Given the description of an element on the screen output the (x, y) to click on. 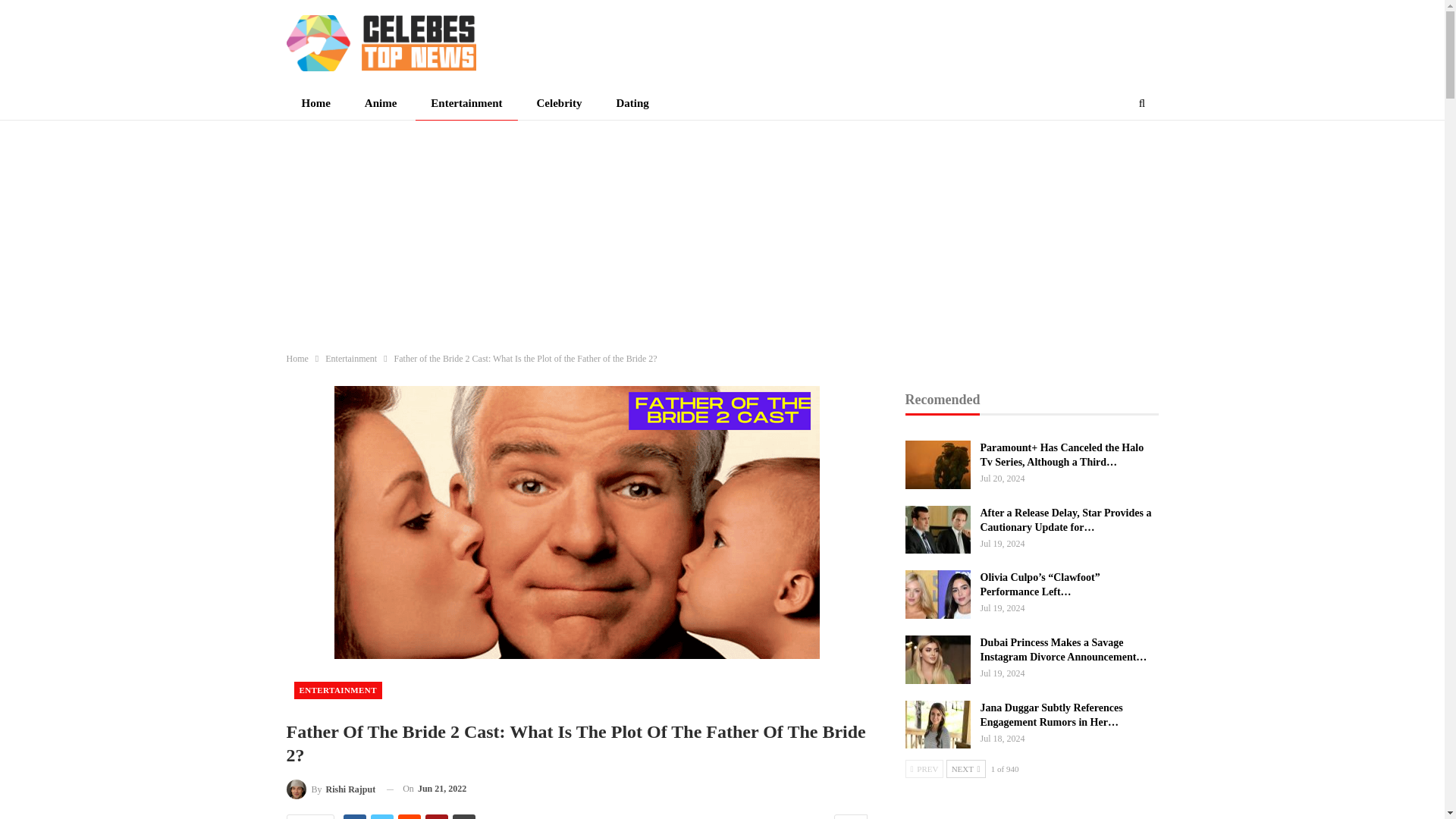
ENTERTAINMENT (337, 690)
Home (297, 358)
Entertainment (350, 358)
Entertainment (465, 102)
By Rishi Rajput (330, 788)
Home (316, 102)
0 (850, 816)
Celebrity (558, 102)
Browse Author Articles (330, 788)
Dating (631, 102)
Anime (380, 102)
